Given the description of an element on the screen output the (x, y) to click on. 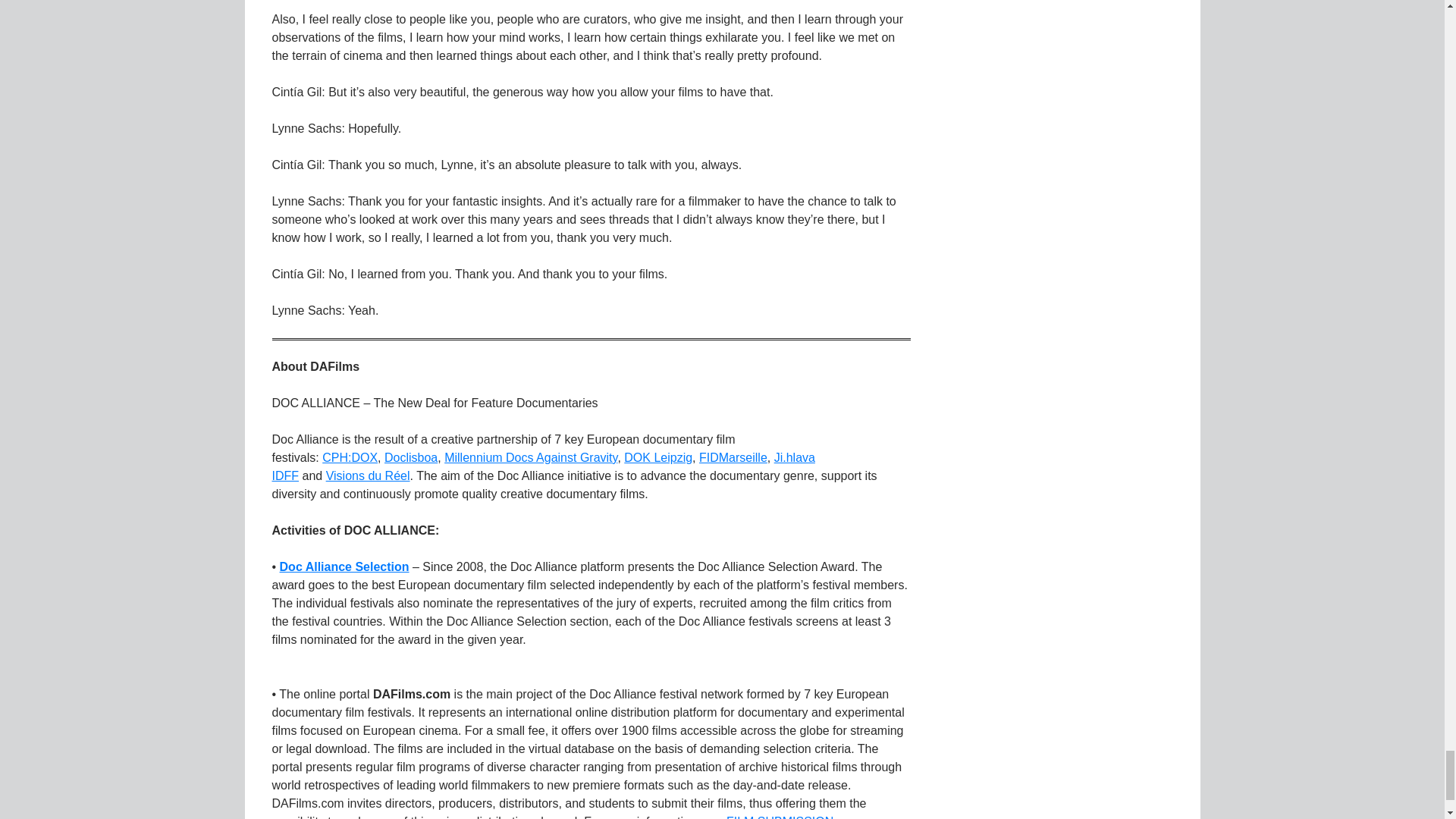
Millennium Docs Against Gravity (530, 457)
Doclisboa (411, 457)
DOK Leipzig (658, 457)
CPH:DOX (349, 457)
